Given the description of an element on the screen output the (x, y) to click on. 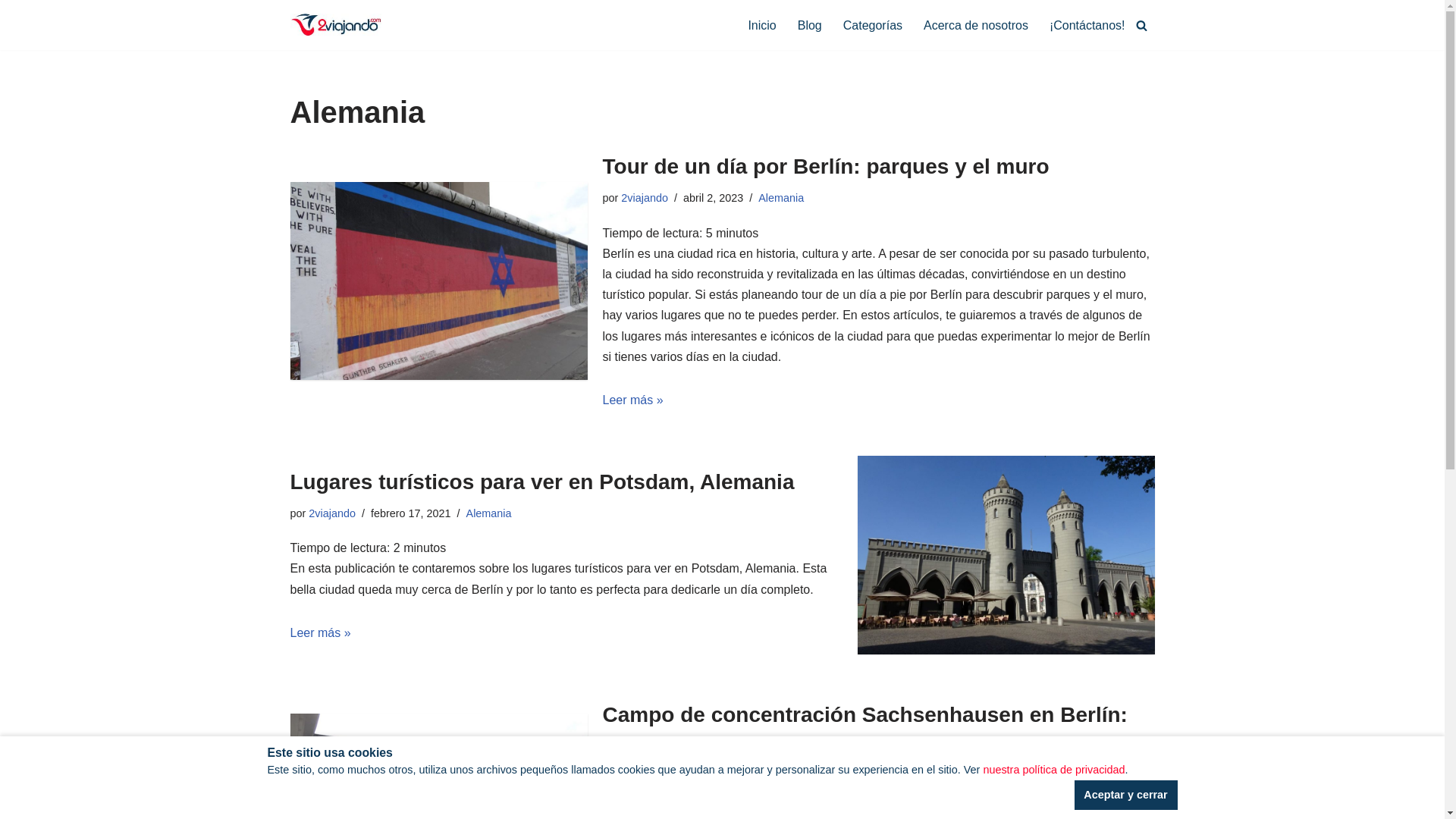
Saltar al contenido Element type: text (11, 31)
Blog Element type: text (809, 25)
Acerca de nosotros Element type: text (975, 25)
Inicio Element type: text (761, 25)
2viajando Element type: text (644, 775)
Alemania Element type: text (488, 513)
2viajando Element type: text (644, 197)
Aceptar y cerrar Element type: text (1124, 794)
2viajando Element type: text (331, 513)
Alemania Element type: text (802, 775)
Alemania Element type: text (780, 197)
